Given the description of an element on the screen output the (x, y) to click on. 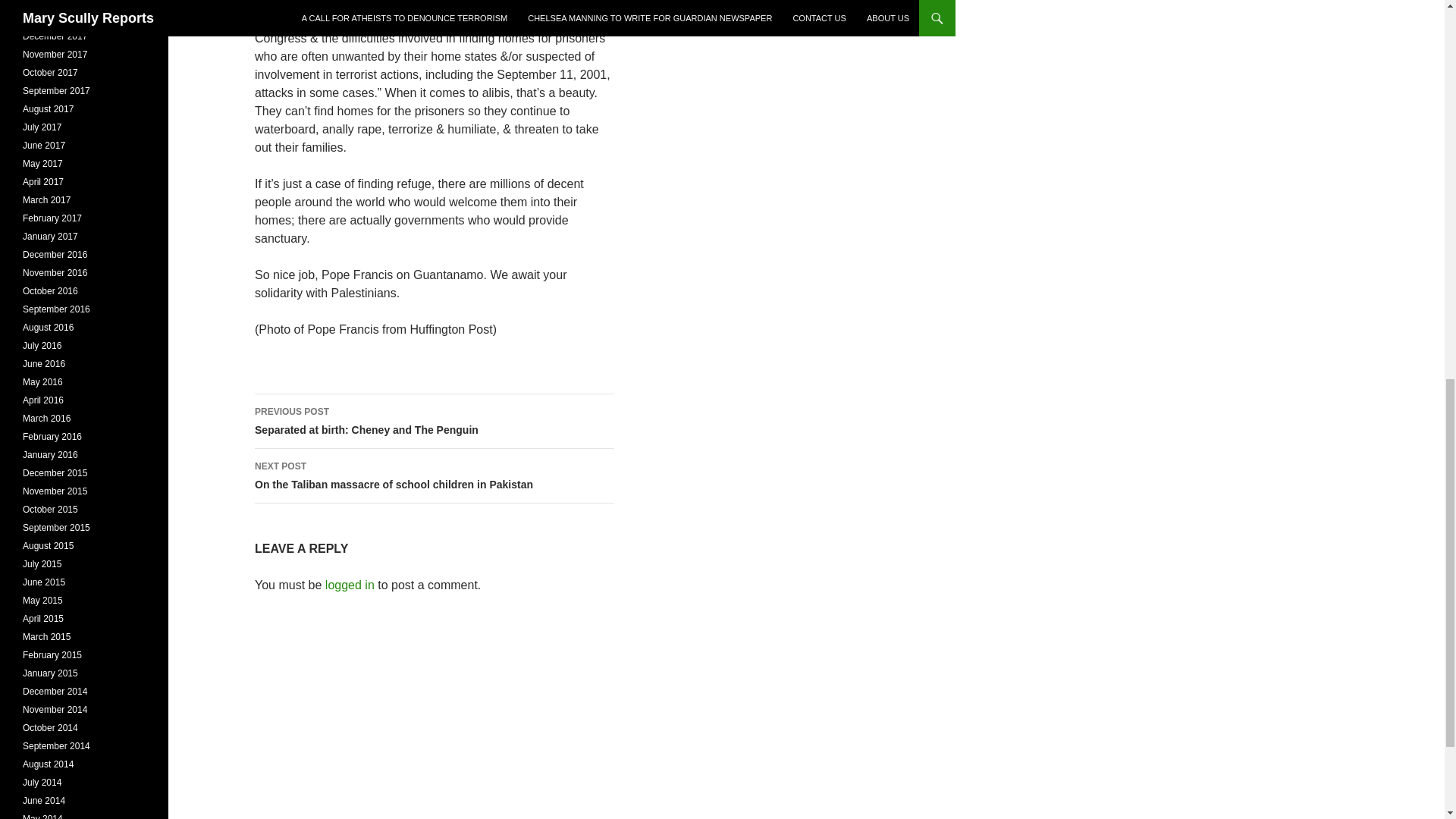
logged in (434, 420)
